Given the description of an element on the screen output the (x, y) to click on. 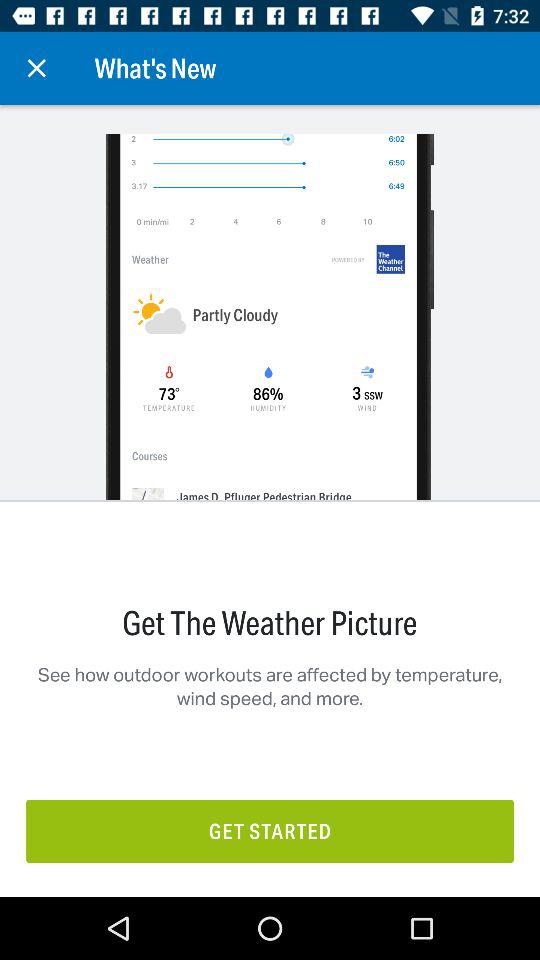
tap the item below the see how outdoor item (269, 830)
